Given the description of an element on the screen output the (x, y) to click on. 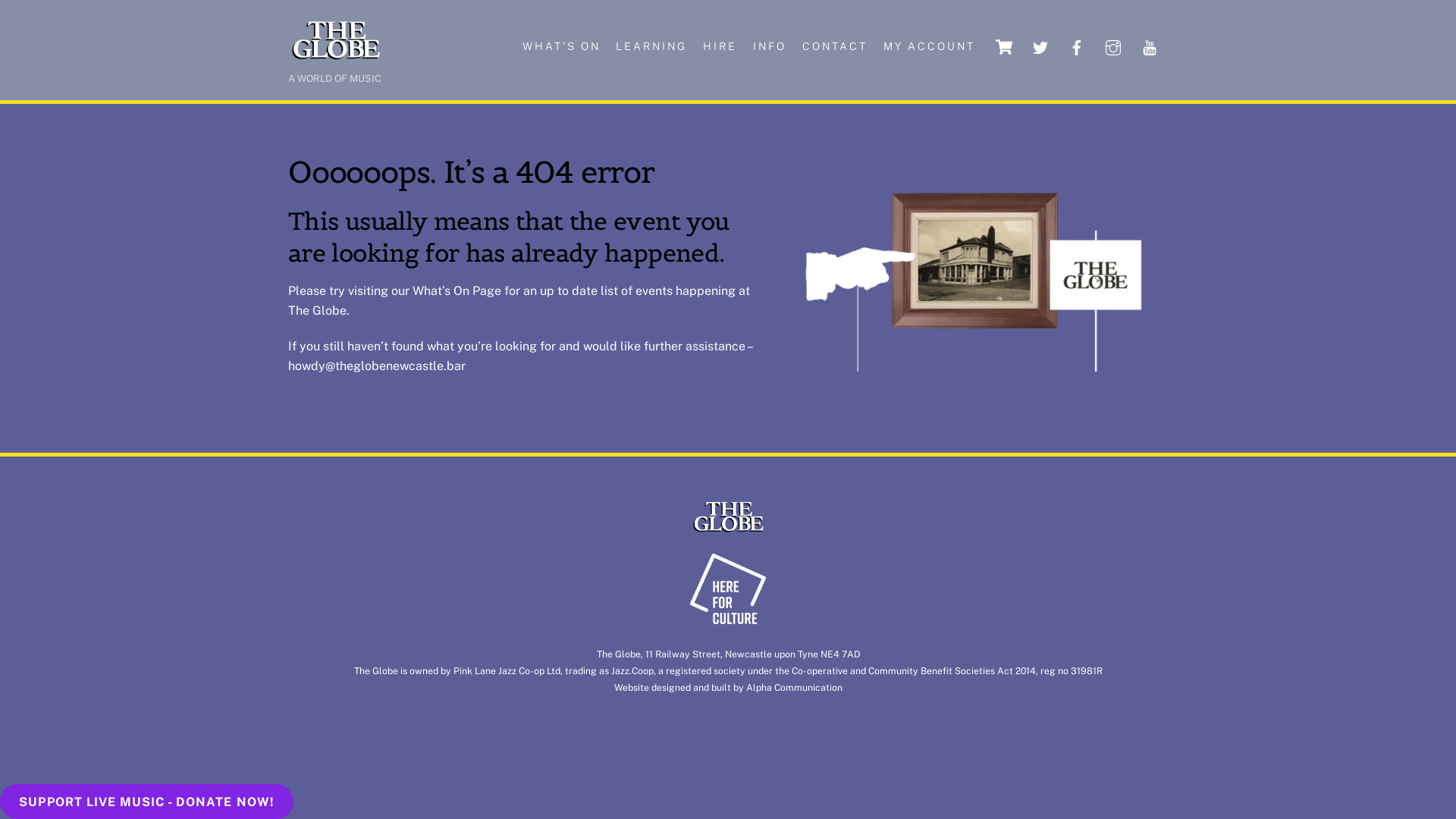
The-Globe-Logo-TEXT-ONLY Element type: hover (727, 516)
INFO Element type: text (769, 46)
HIRE Element type: text (719, 46)
CONTACT Element type: text (834, 46)
LEARNING Element type: text (651, 46)
howdy@theglobenewcastle.bar Element type: text (376, 365)
Alpha Communication Element type: text (794, 687)
The Globe Element type: hover (335, 56)
MY ACCOUNT Element type: text (928, 46)
The Globe Element type: hover (727, 529)
Jazz.Coop Element type: text (632, 670)
Cart Element type: text (1003, 46)
The-Globe-Logo-TEXT-ONLY Element type: hover (335, 39)
